Given the description of an element on the screen output the (x, y) to click on. 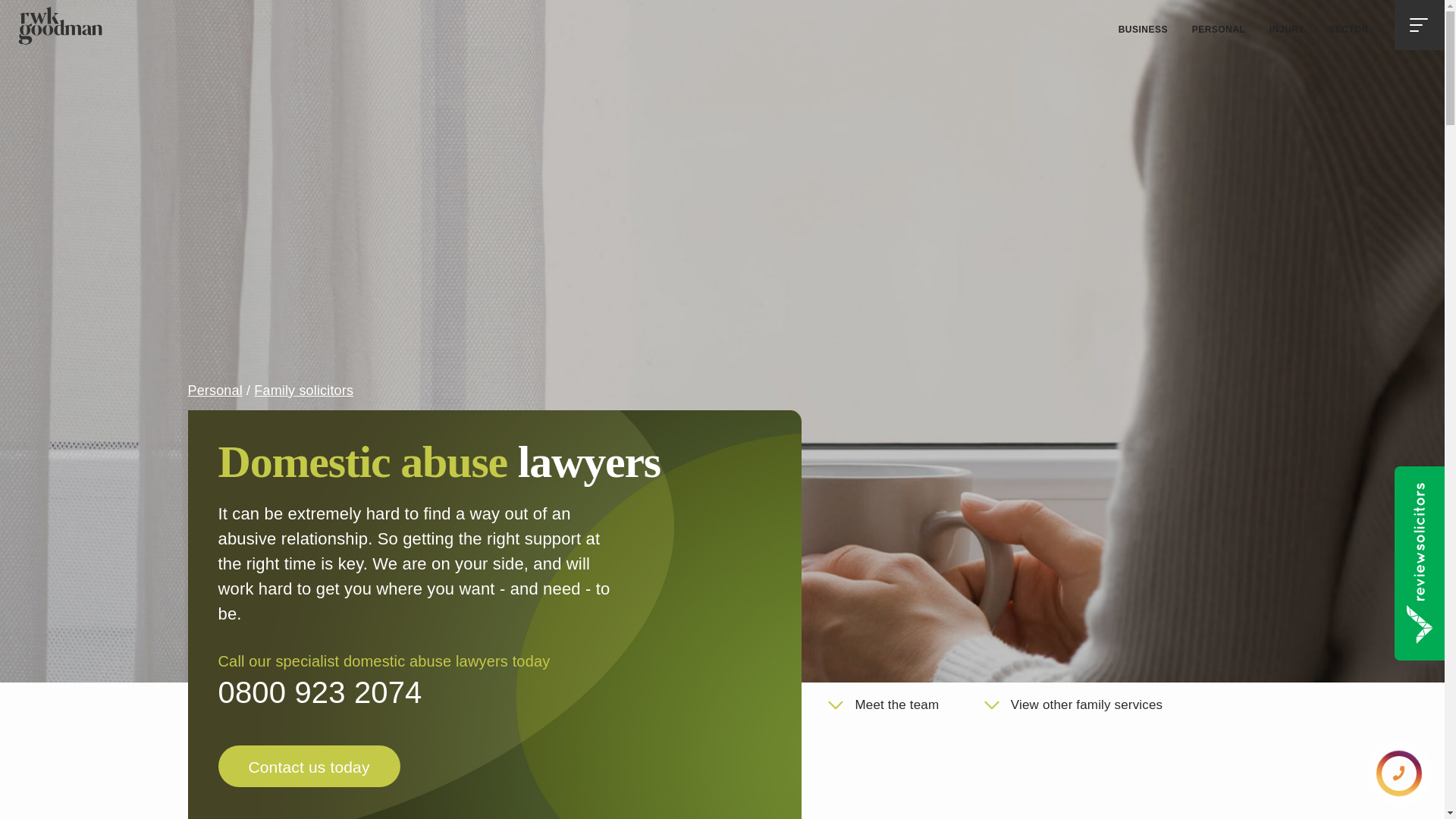
SECTOR (1347, 30)
BUSINESS (1142, 30)
PERSONAL (1218, 30)
INJURY (1286, 30)
Royds Withy King (59, 25)
